Given the description of an element on the screen output the (x, y) to click on. 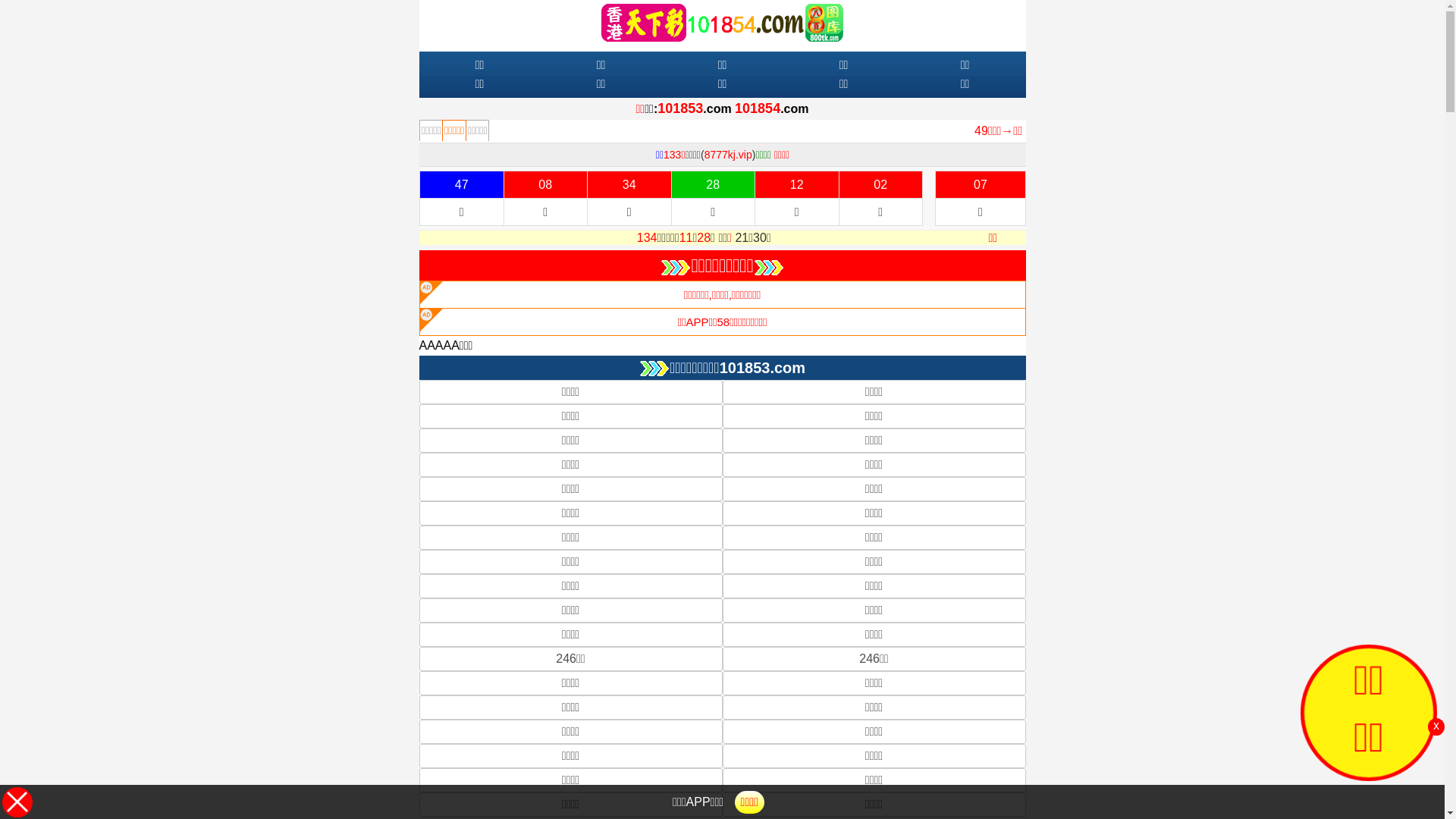
x Element type: text (1435, 726)
